Given the description of an element on the screen output the (x, y) to click on. 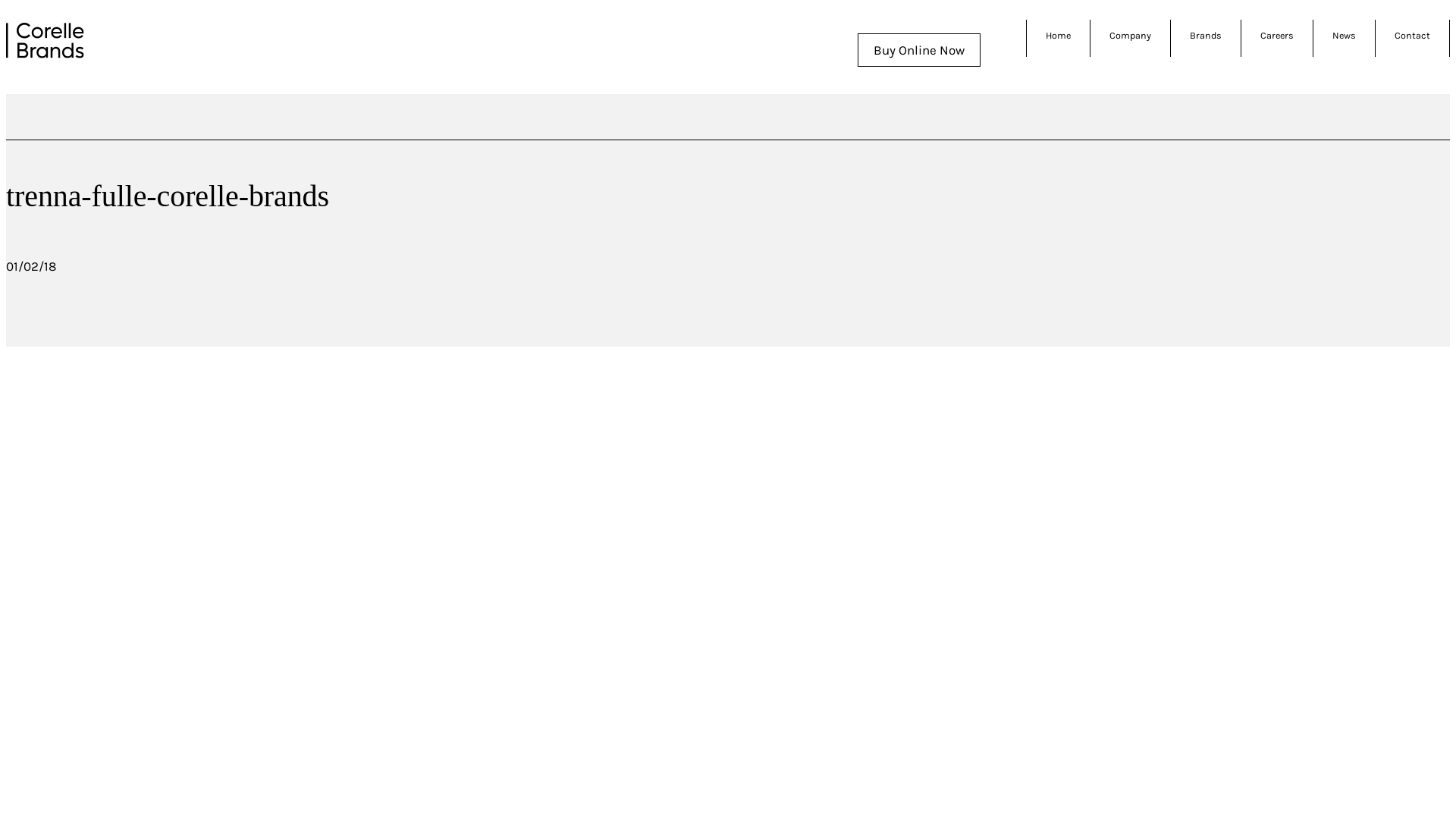
Contact Element type: text (1412, 34)
News Element type: text (1343, 34)
Brands Element type: text (1205, 34)
Home Element type: text (1057, 34)
Careers Element type: text (1276, 34)
Buy Online Now Element type: text (918, 49)
Company Element type: text (1130, 34)
Corelle Brands Element type: hover (45, 40)
